Given the description of an element on the screen output the (x, y) to click on. 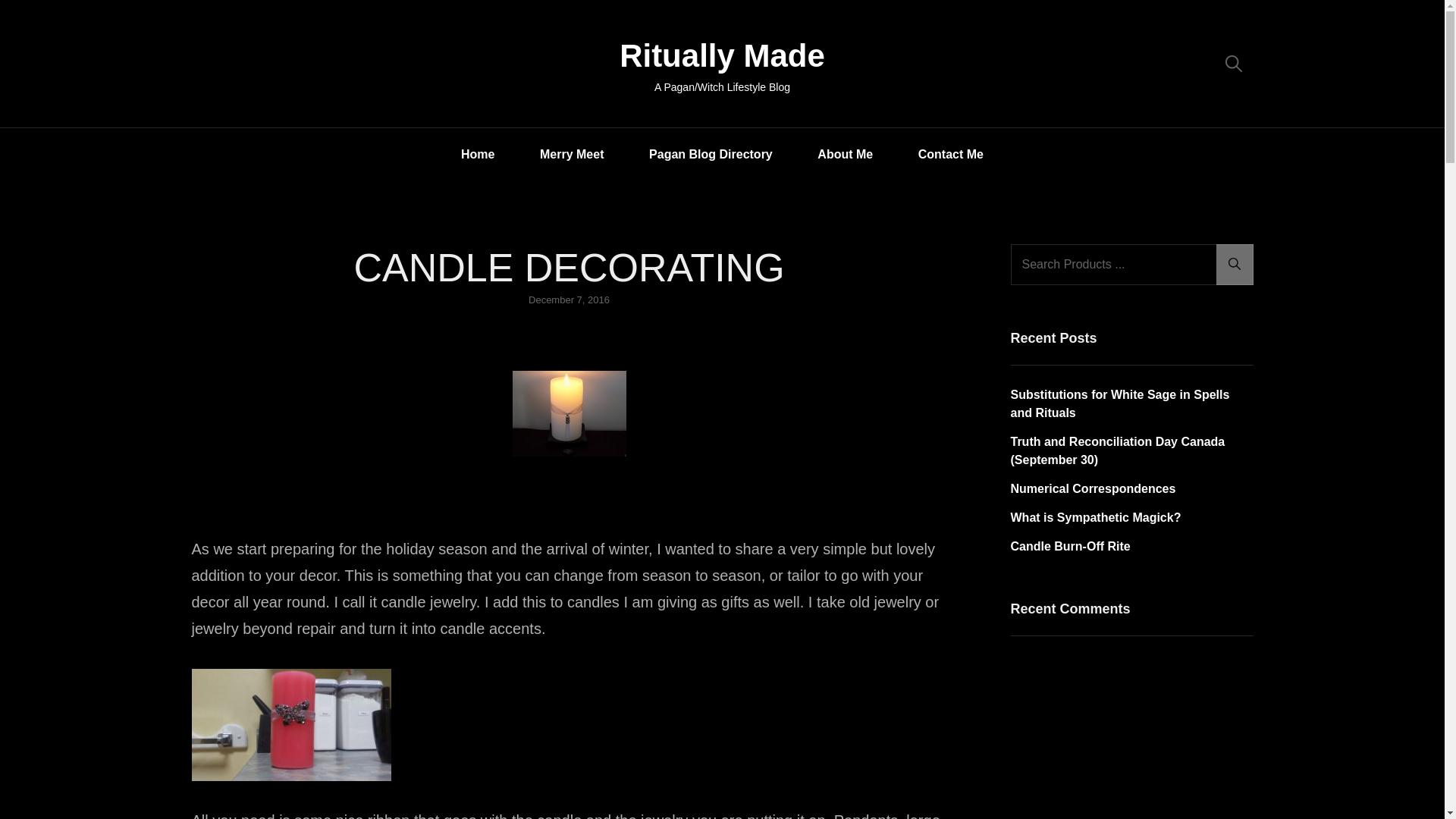
Ritually Made (722, 55)
Substitutions for White Sage in Spells and Rituals (1119, 403)
Candle Burn-Off Rite (1069, 545)
Pagan Blog Directory (710, 153)
Home (478, 153)
December 7, 2016 (569, 299)
Search (1234, 264)
Numerical Correspondences (1092, 488)
About Me (844, 153)
Contact Me (951, 153)
What is Sympathetic Magick? (1095, 517)
Merry Meet (571, 153)
